Given the description of an element on the screen output the (x, y) to click on. 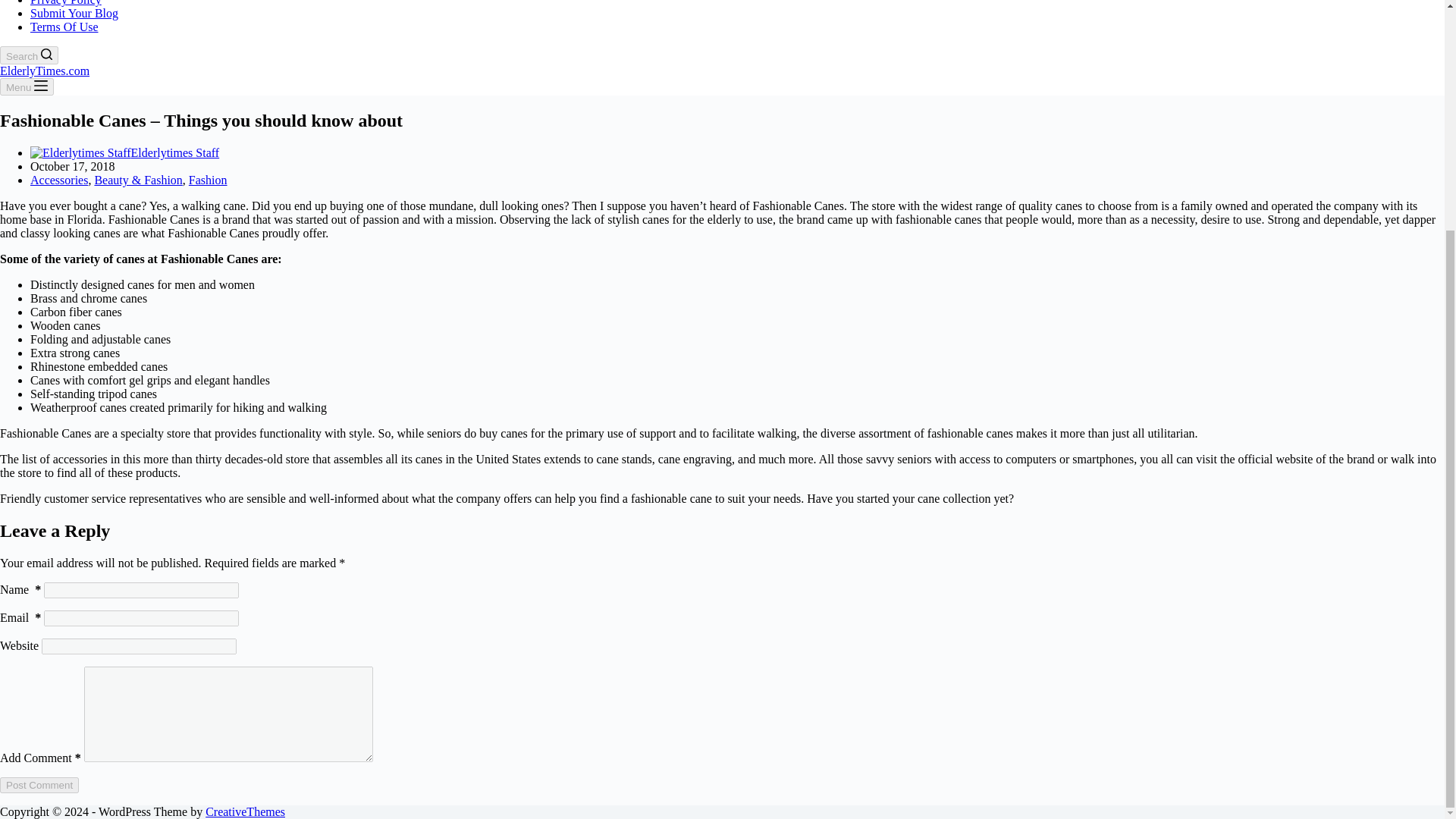
Menu (26, 86)
CreativeThemes (245, 811)
Privacy Policy (65, 2)
Post Comment (39, 785)
Posts by Elderlytimes Staff (175, 152)
Accessories (58, 179)
Search (29, 54)
Elderlytimes Staff (175, 152)
ElderlyTimes.com (44, 70)
Submit Your Blog (73, 12)
Fashion (208, 179)
Terms Of Use (64, 26)
